Given the description of an element on the screen output the (x, y) to click on. 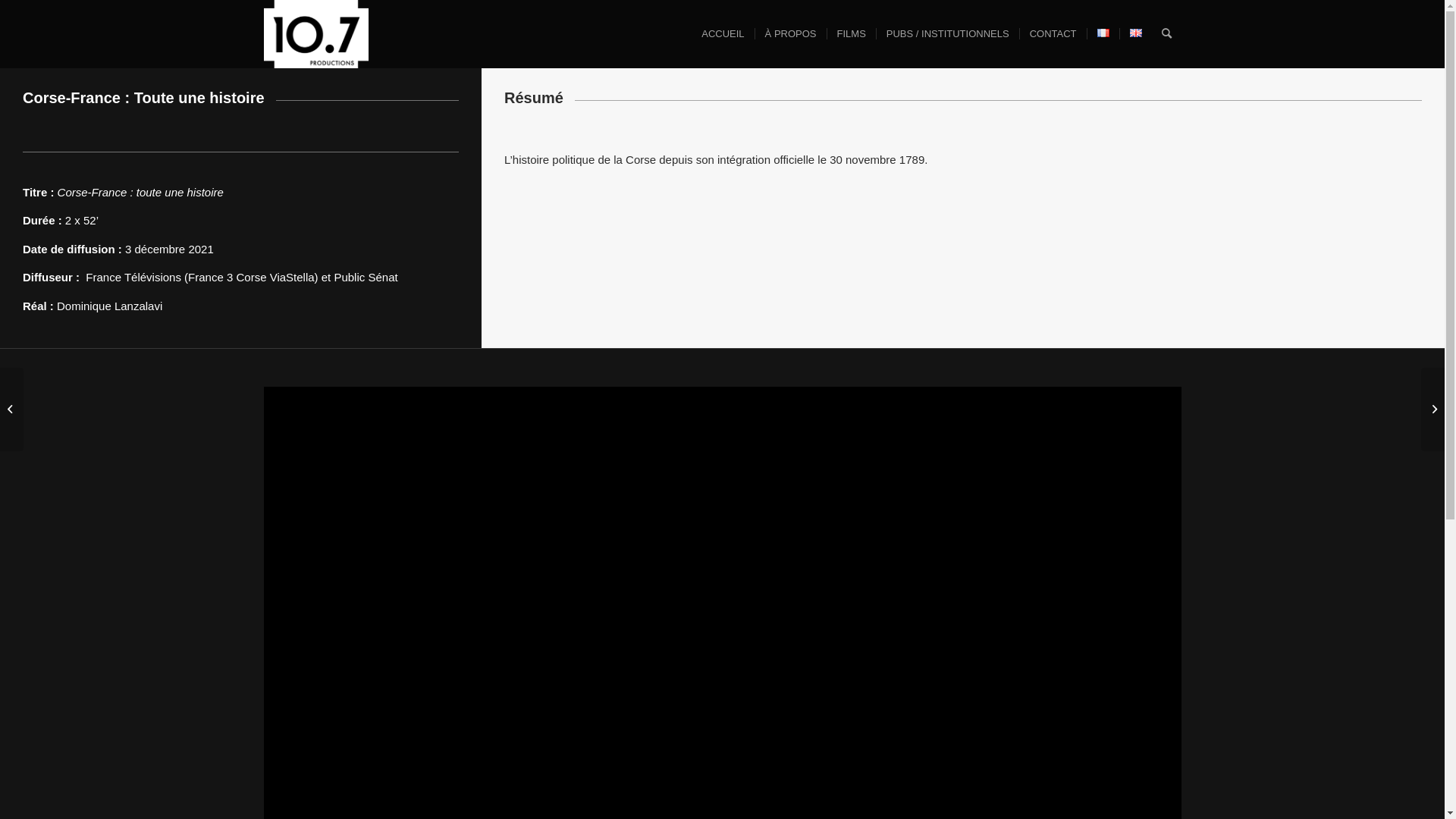
ACCUEIL Element type: text (722, 34)
FILMS Element type: text (850, 34)
PUBS / INSTITUTIONNELS Element type: text (947, 34)
CONTACT Element type: text (1052, 34)
